Given the description of an element on the screen output the (x, y) to click on. 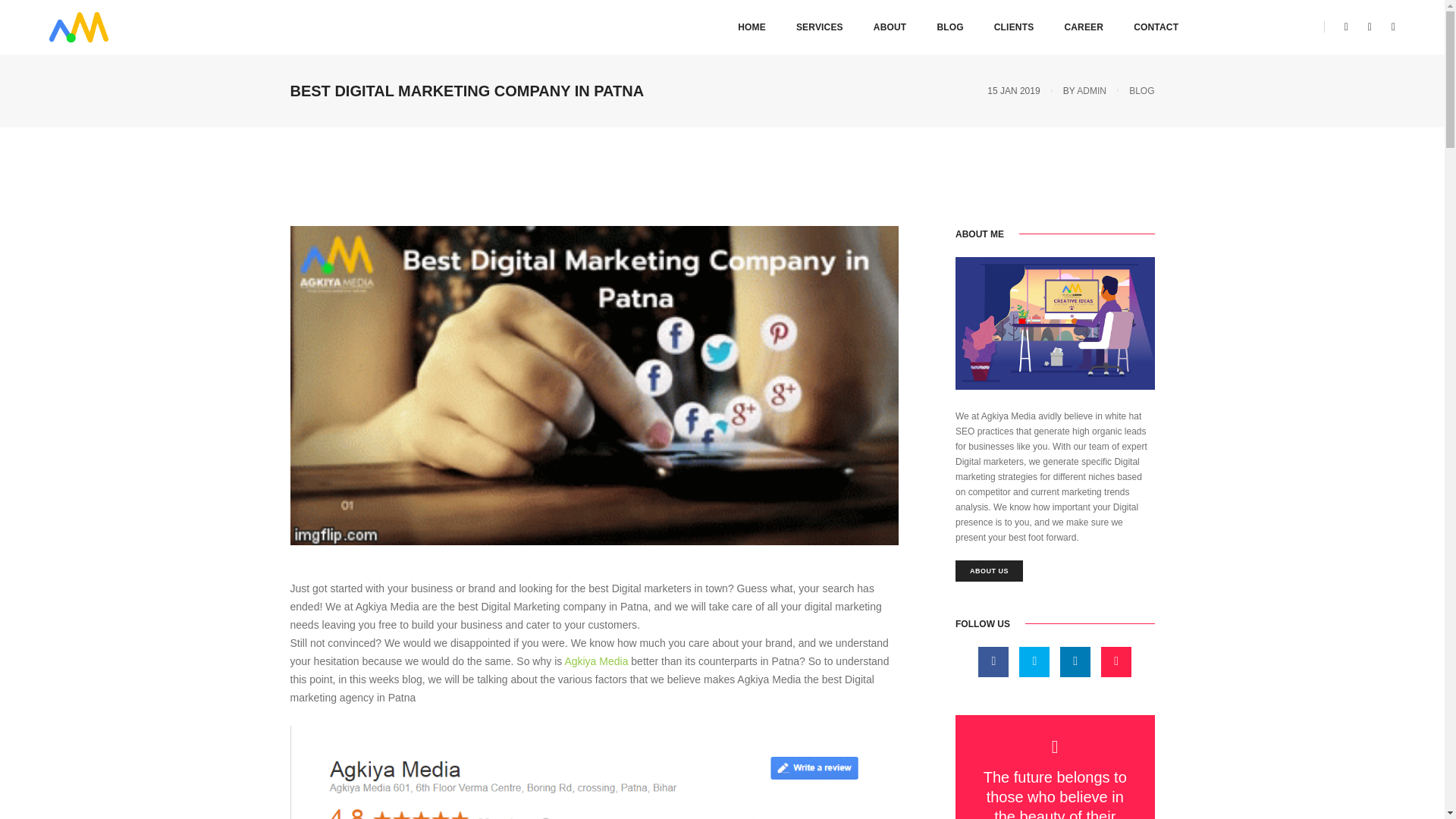
BLOG (949, 27)
Career (1083, 27)
ADMIN (1091, 90)
Contact (1155, 27)
Agkiya Media (595, 661)
Our Clients Say About Our Digital Works (593, 772)
CAREER (1083, 27)
CONTACT (1155, 27)
ABOUT (890, 27)
15 JAN 2019 (1013, 90)
Twitter (1369, 26)
CLIENTS (1013, 27)
Clients (1013, 27)
Facebook (1346, 26)
SERVICES (819, 27)
